Given the description of an element on the screen output the (x, y) to click on. 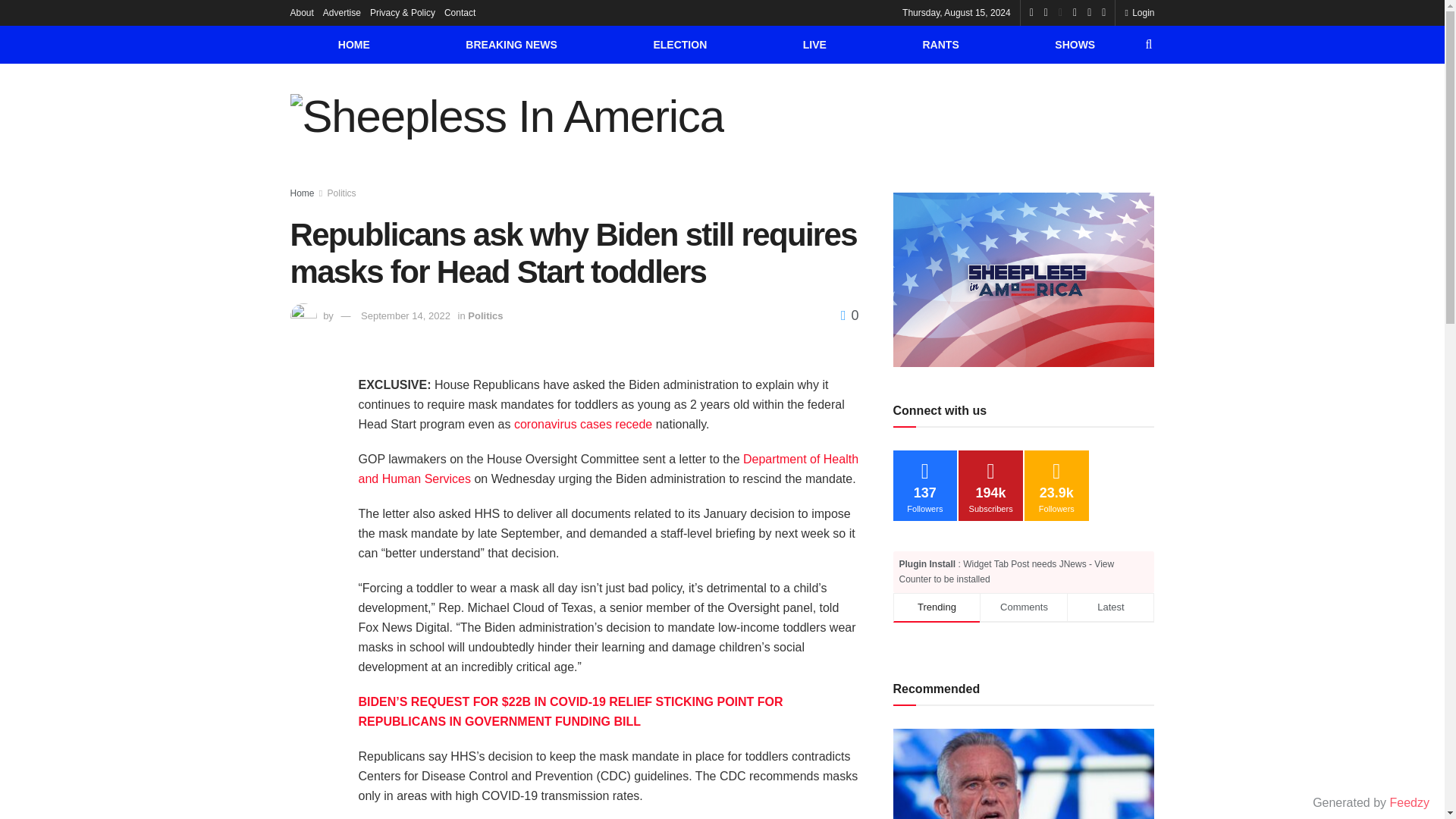
Contact (460, 12)
Politics (341, 193)
September 14, 2022 (405, 315)
SHOWS (1074, 44)
BREAKING NEWS (511, 44)
0 (850, 314)
Home (301, 193)
coronavirus cases recede (582, 423)
ELECTION (679, 44)
LIVE (815, 44)
